Given the description of an element on the screen output the (x, y) to click on. 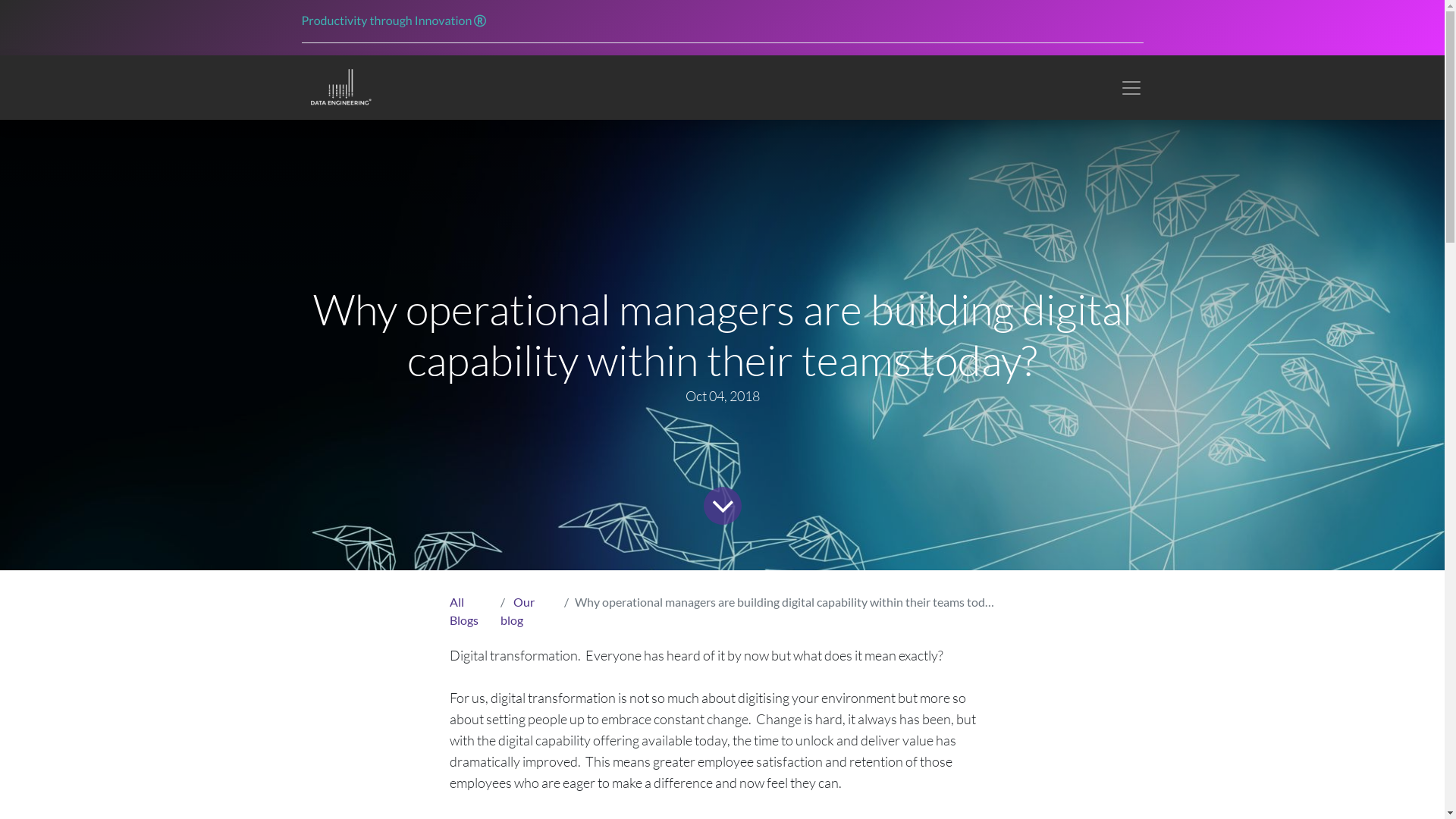
Our blog Element type: text (517, 610)
All Blogs Element type: text (462, 610)
DE Website Element type: hover (338, 87)
To blog content Element type: hover (720, 503)
